Given the description of an element on the screen output the (x, y) to click on. 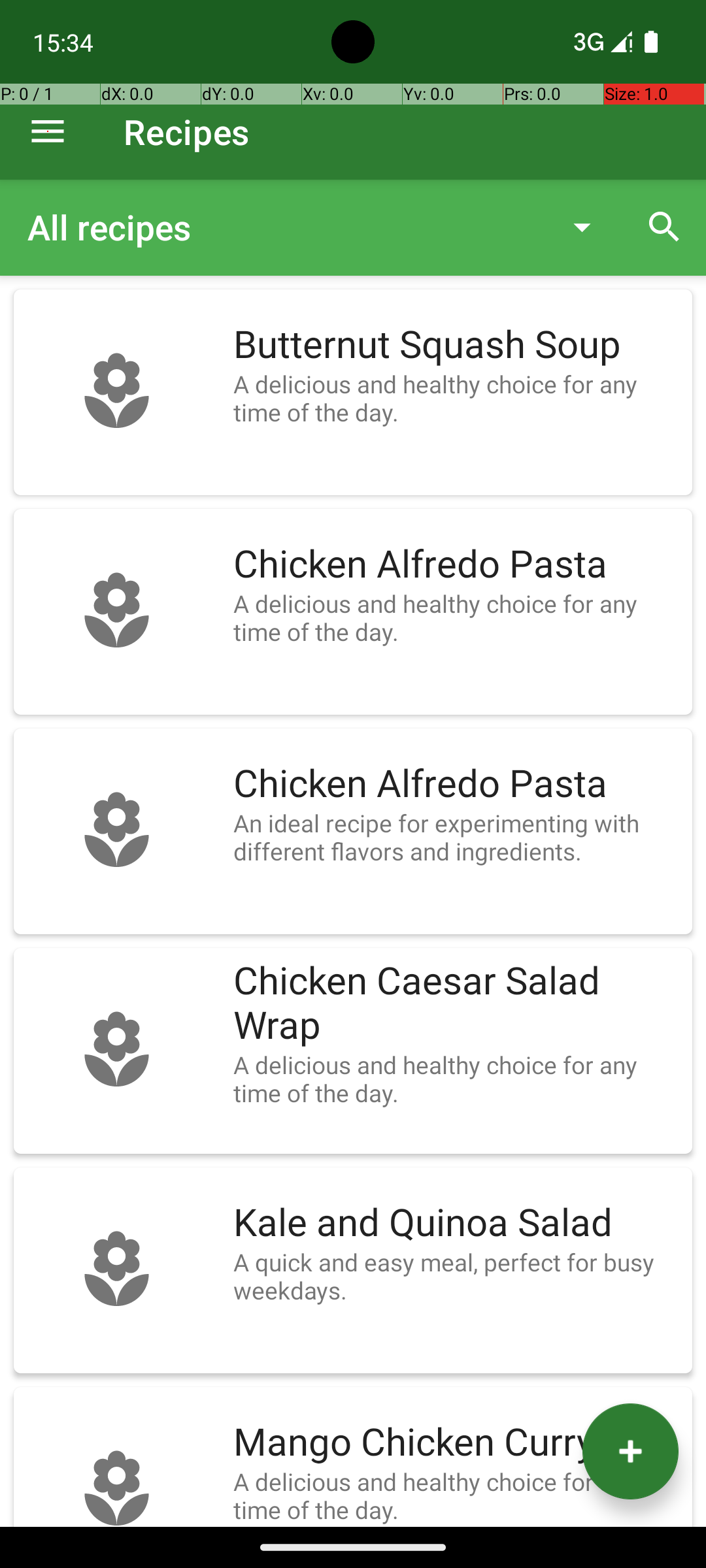
All recipes Element type: android.widget.TextView (283, 226)
Butternut Squash Soup Element type: android.widget.TextView (455, 344)
Chicken Alfredo Pasta Element type: android.widget.TextView (455, 564)
An ideal recipe for experimenting with different flavors and ingredients. Element type: android.widget.TextView (455, 836)
Chicken Caesar Salad Wrap Element type: android.widget.TextView (455, 1003)
Kale and Quinoa Salad Element type: android.widget.TextView (455, 1222)
A quick and easy meal, perfect for busy weekdays. Element type: android.widget.TextView (455, 1275)
Mango Chicken Curry Element type: android.widget.TextView (455, 1442)
